Given the description of an element on the screen output the (x, y) to click on. 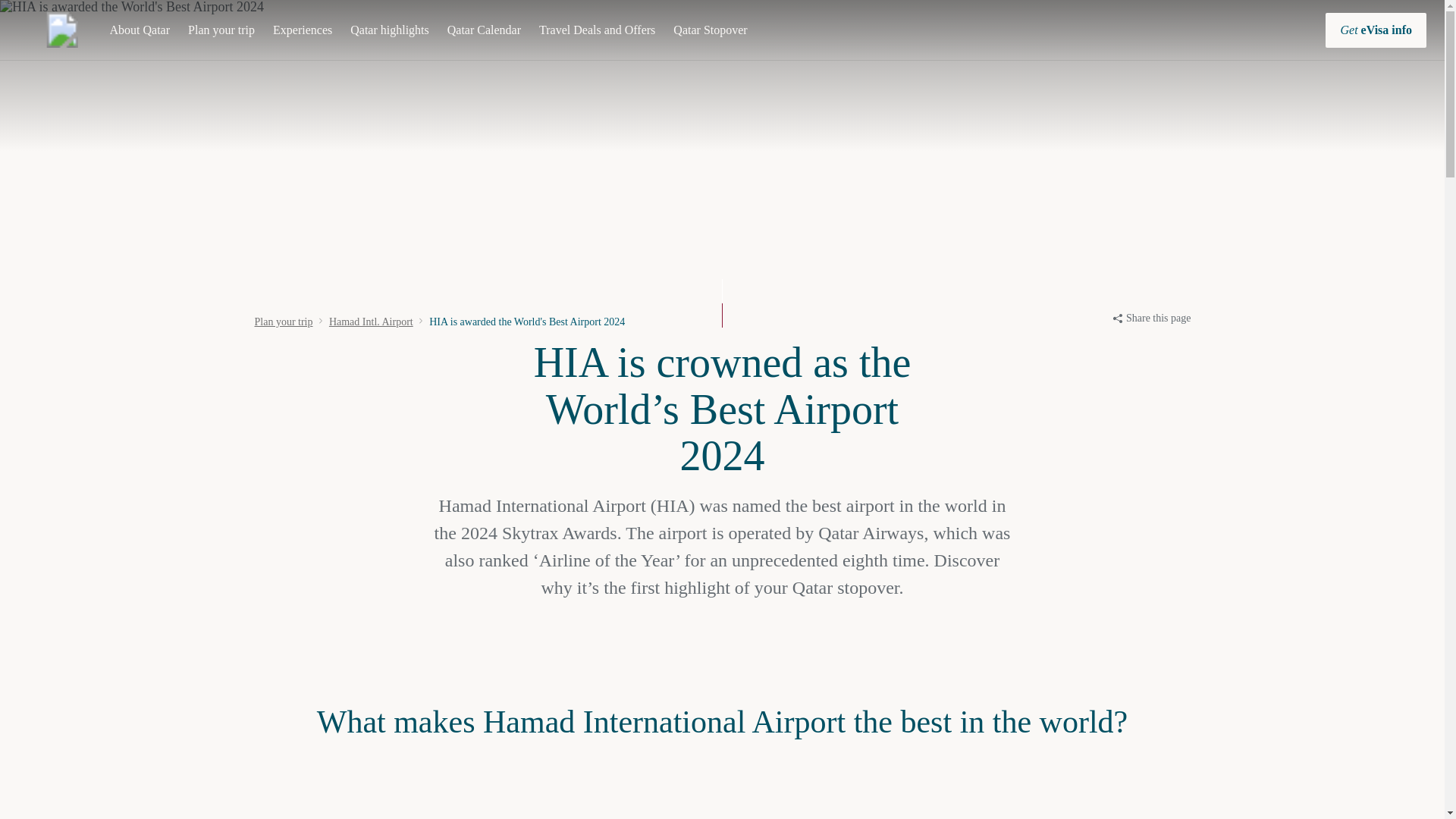
Plan your trip (220, 29)
VisitQatar Homepage (62, 29)
Experiences (302, 29)
About Qatar (139, 29)
